Given the description of an element on the screen output the (x, y) to click on. 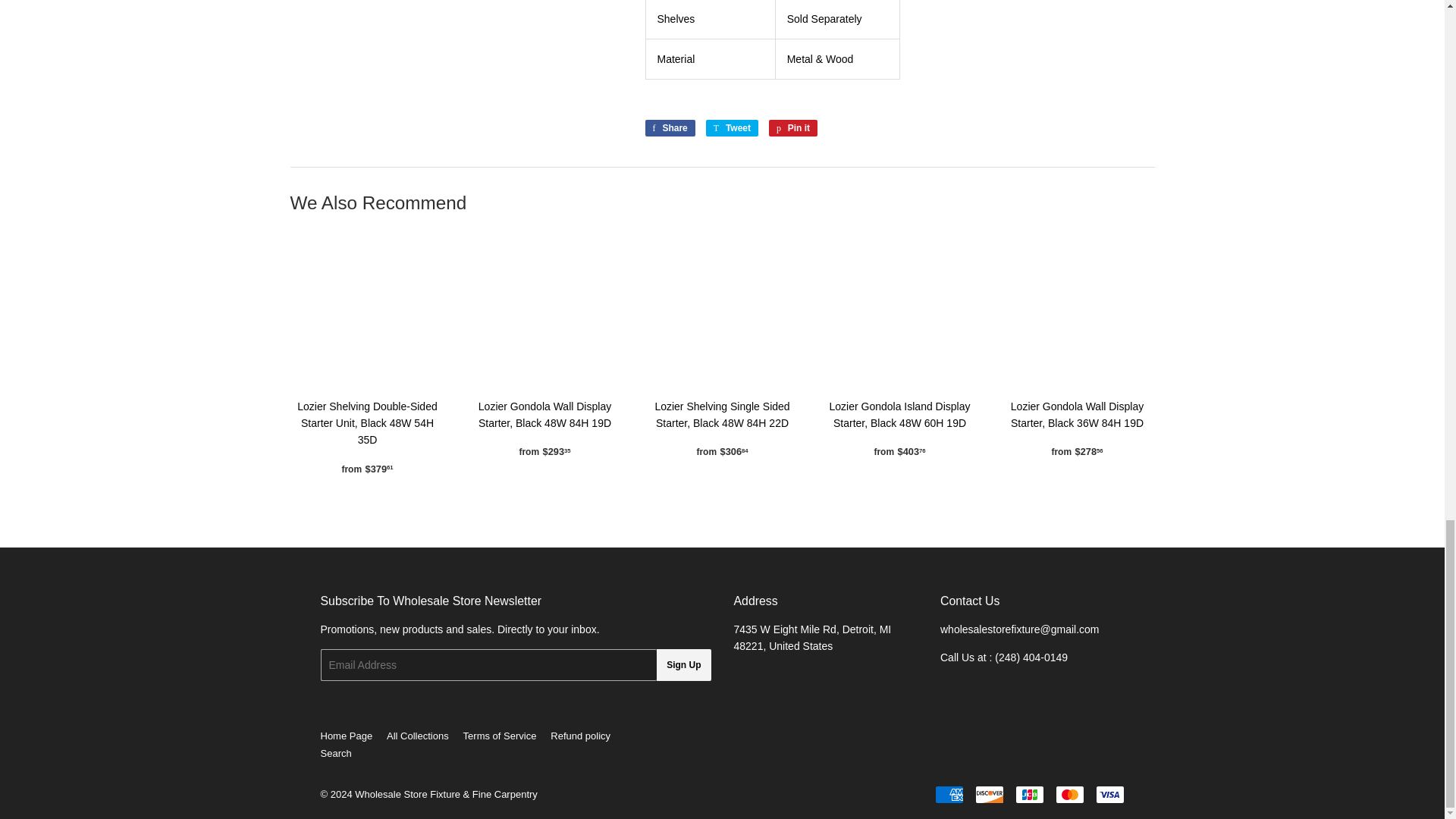
Mastercard (1069, 794)
American Express (948, 794)
Tweet on Twitter (732, 127)
All Collections (417, 736)
Home Page (346, 736)
Refund policy (580, 736)
Visa (1109, 794)
Search (792, 127)
Sign Up (335, 753)
Terms of Service (683, 664)
Share on Facebook (500, 736)
JCB (669, 127)
Pin on Pinterest (1028, 794)
